Given the description of an element on the screen output the (x, y) to click on. 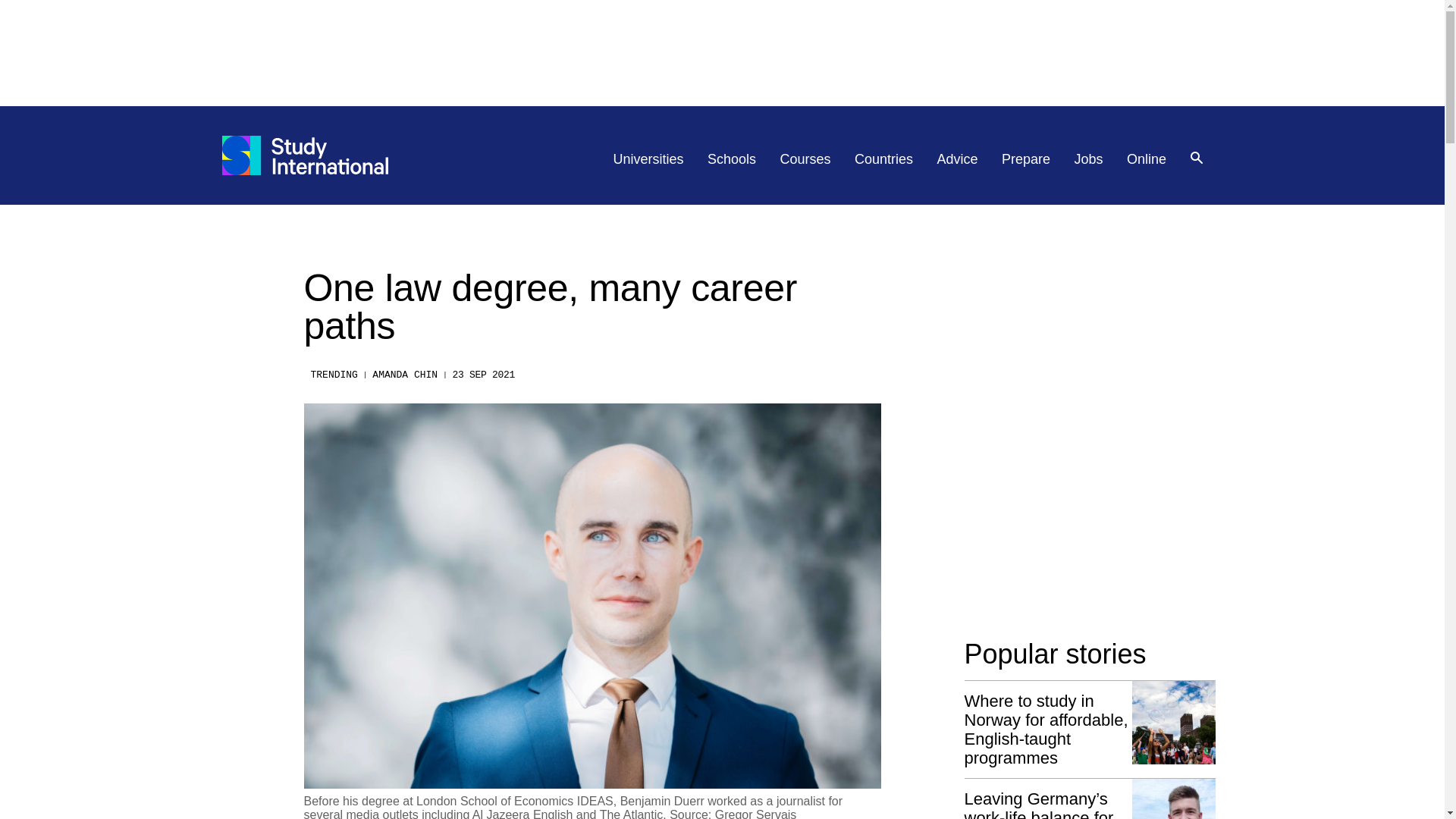
Jobs (1088, 159)
Universities (648, 159)
Courses (805, 159)
Countries (883, 159)
Schools (731, 159)
Advice (957, 159)
Prepare (1025, 159)
Online (1146, 159)
AMANDA CHIN (405, 374)
